Given the description of an element on the screen output the (x, y) to click on. 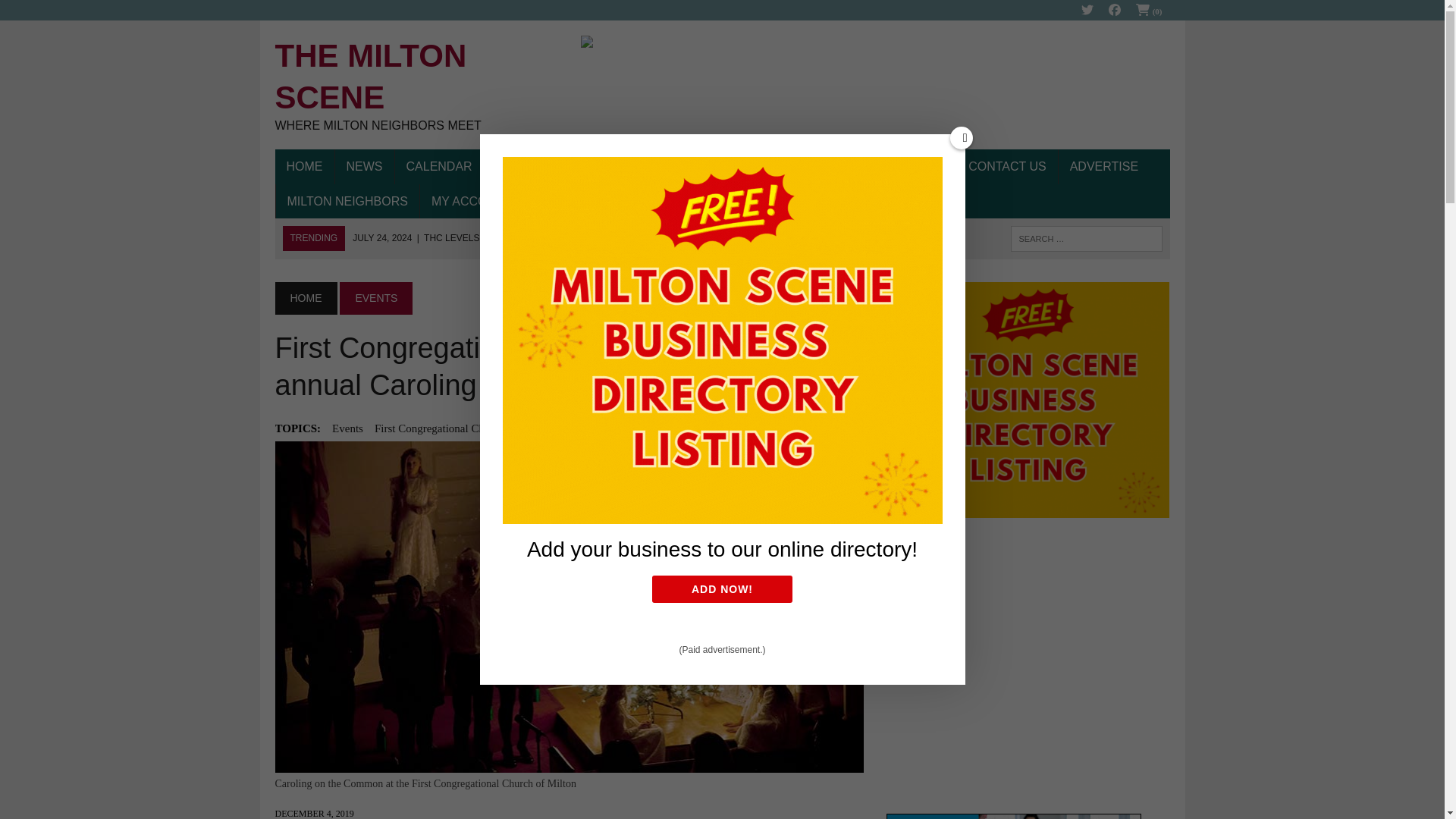
MILTON RESOURCES (717, 166)
The Milton Scene (416, 85)
View your shopping cart (1149, 10)
BUSINESS DIRECTORY (563, 166)
CALENDAR (438, 166)
NEWS (364, 166)
HOME (416, 85)
